Given the description of an element on the screen output the (x, y) to click on. 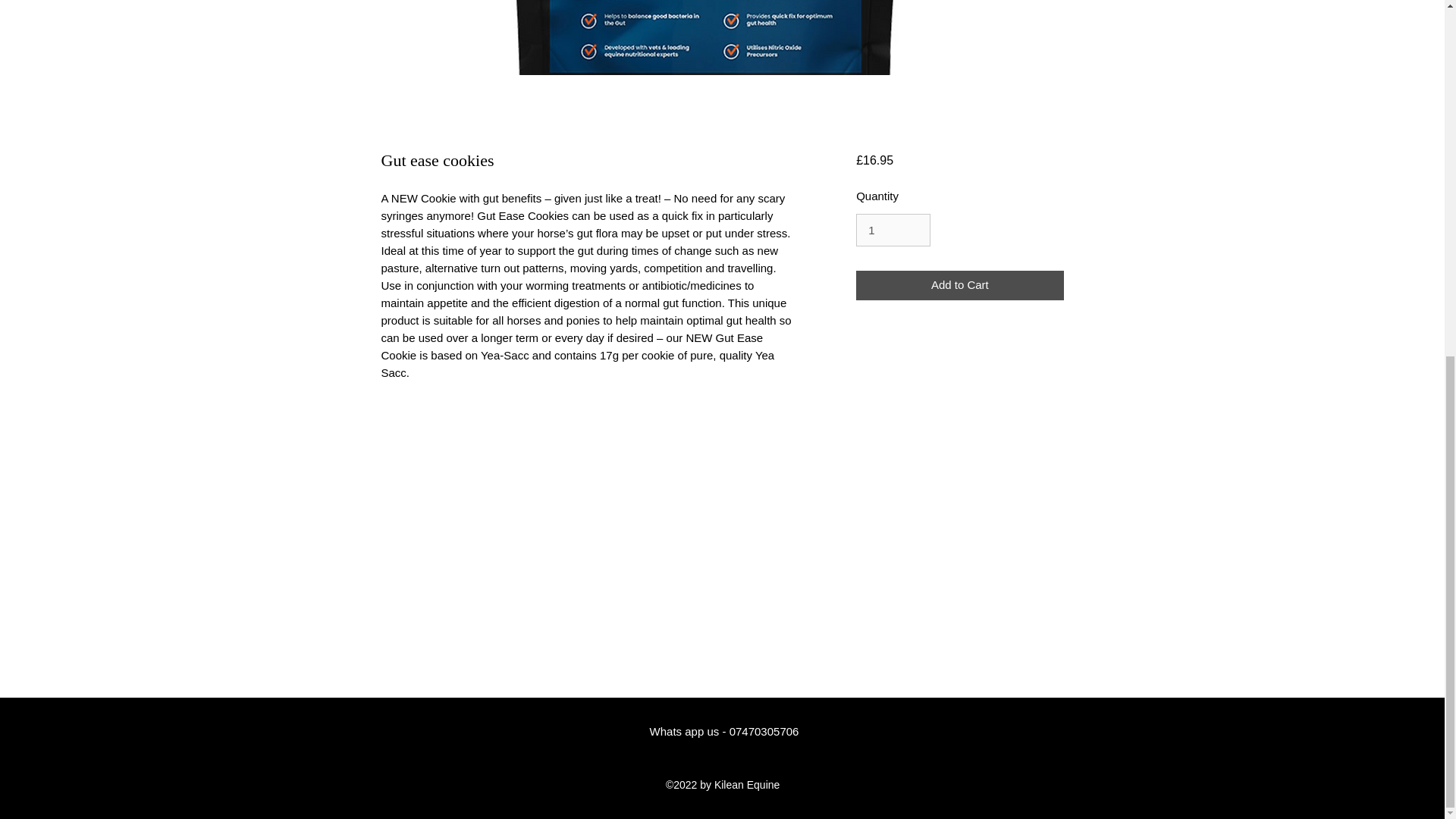
Add to Cart (959, 285)
1 (893, 230)
